Given the description of an element on the screen output the (x, y) to click on. 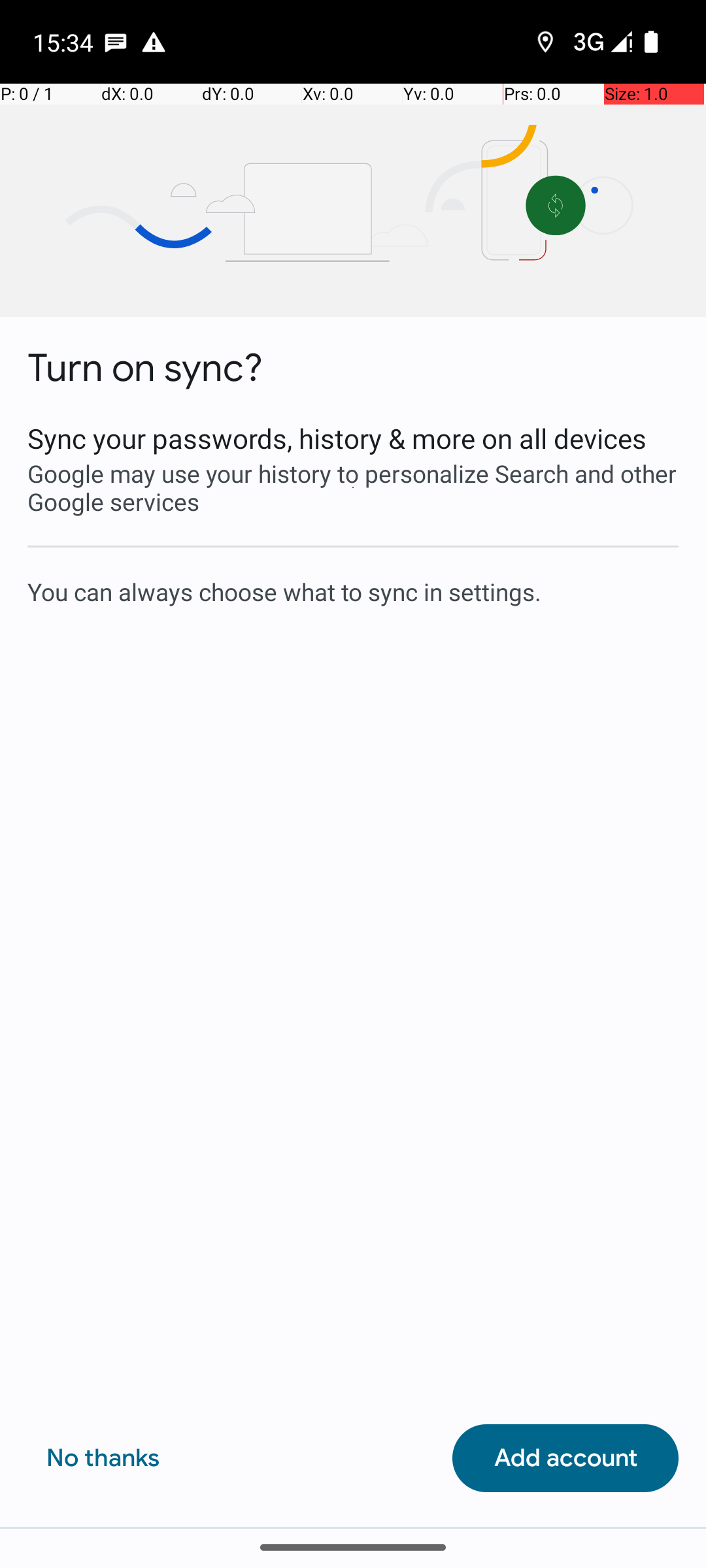
No thanks Element type: android.widget.Button (102, 1458)
Add account Element type: android.widget.Button (565, 1458)
Turn on sync? Element type: android.widget.TextView (144, 368)
Sync your passwords, history & more on all devices Element type: android.widget.TextView (352, 437)
Google may use your history to personalize Search and other Google services Element type: android.widget.TextView (352, 487)
You can always choose what to sync in settings. Element type: android.widget.TextView (352, 591)
